Given the description of an element on the screen output the (x, y) to click on. 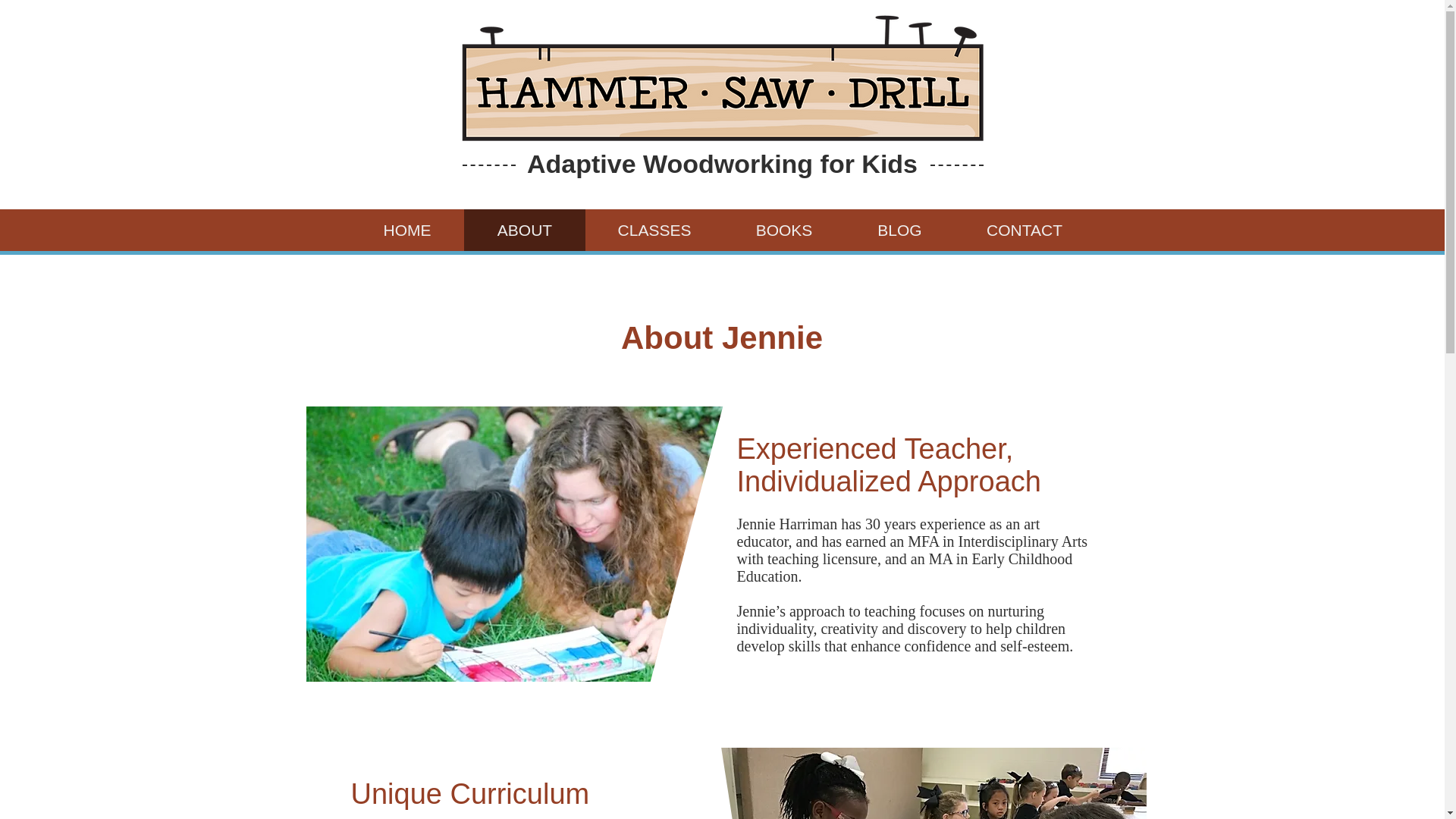
CONTACT (1023, 229)
ABOUT (524, 229)
BOOKS (783, 229)
CLASSES (654, 229)
BLOG (899, 229)
HOME (406, 229)
